Given the description of an element on the screen output the (x, y) to click on. 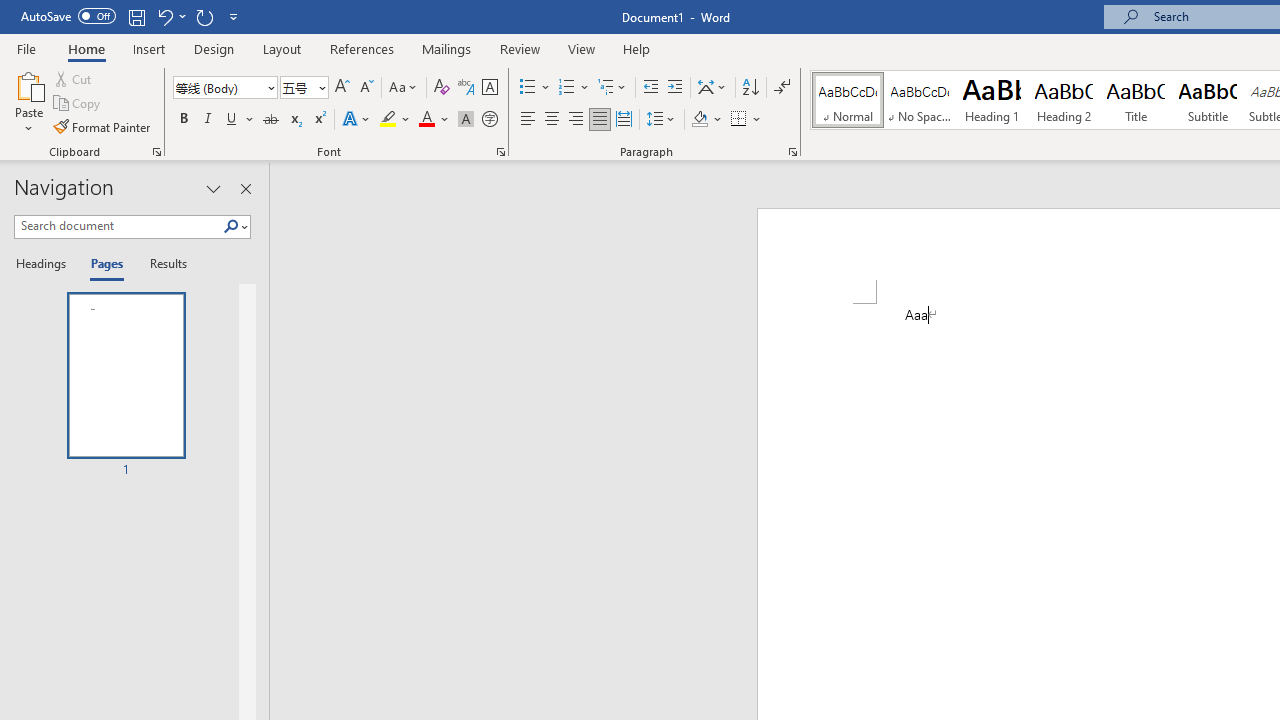
Font Color Red (426, 119)
